Given the description of an element on the screen output the (x, y) to click on. 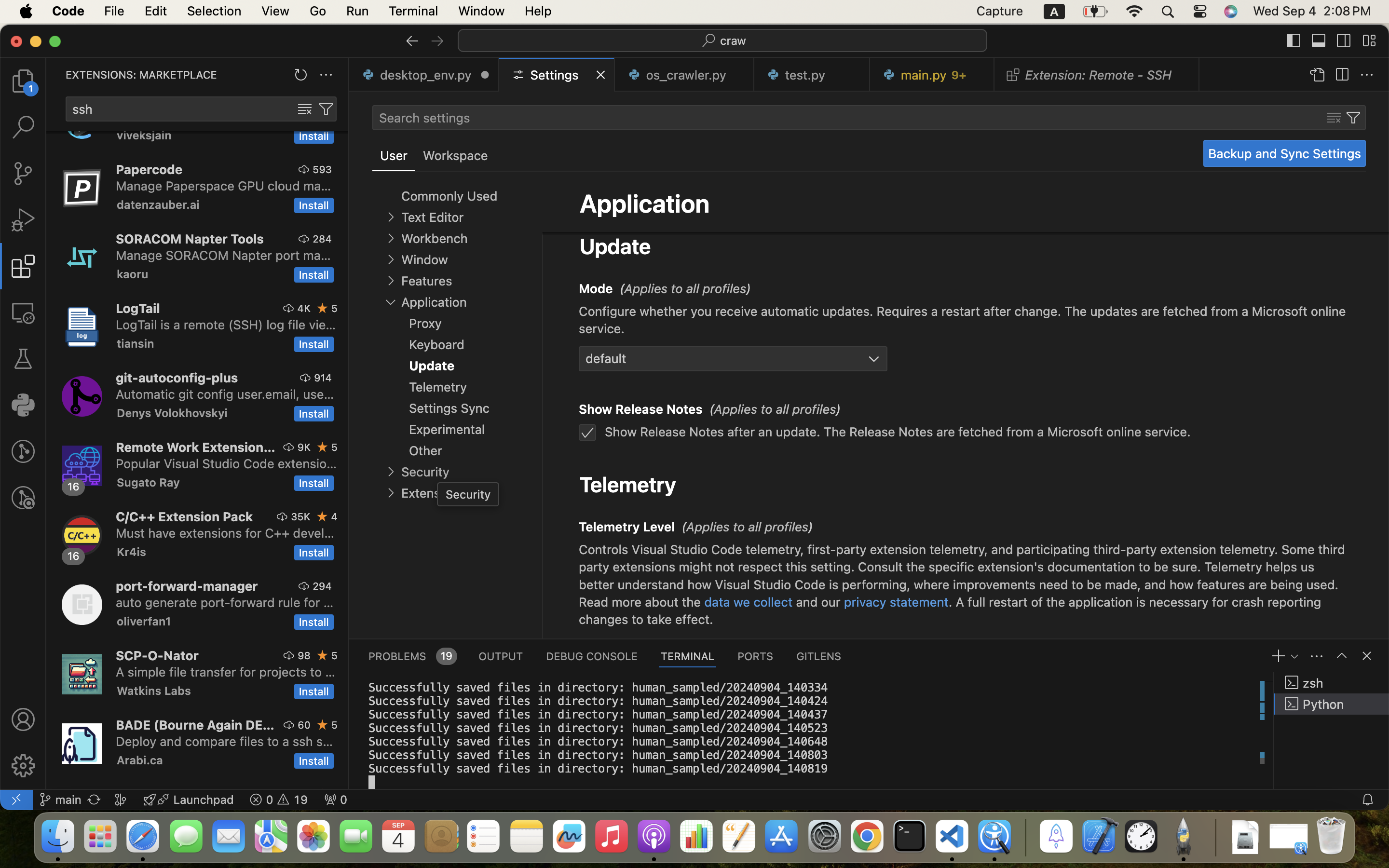
Experimental Element type: AXStaticText (446, 429)
 Element type: AXCheckBox (1344, 40)
 Element type: AXStaticText (322, 516)
0 os_crawler.py   Element type: AXRadioButton (684, 74)
0  Element type: AXRadioButton (23, 80)
